Given the description of an element on the screen output the (x, y) to click on. 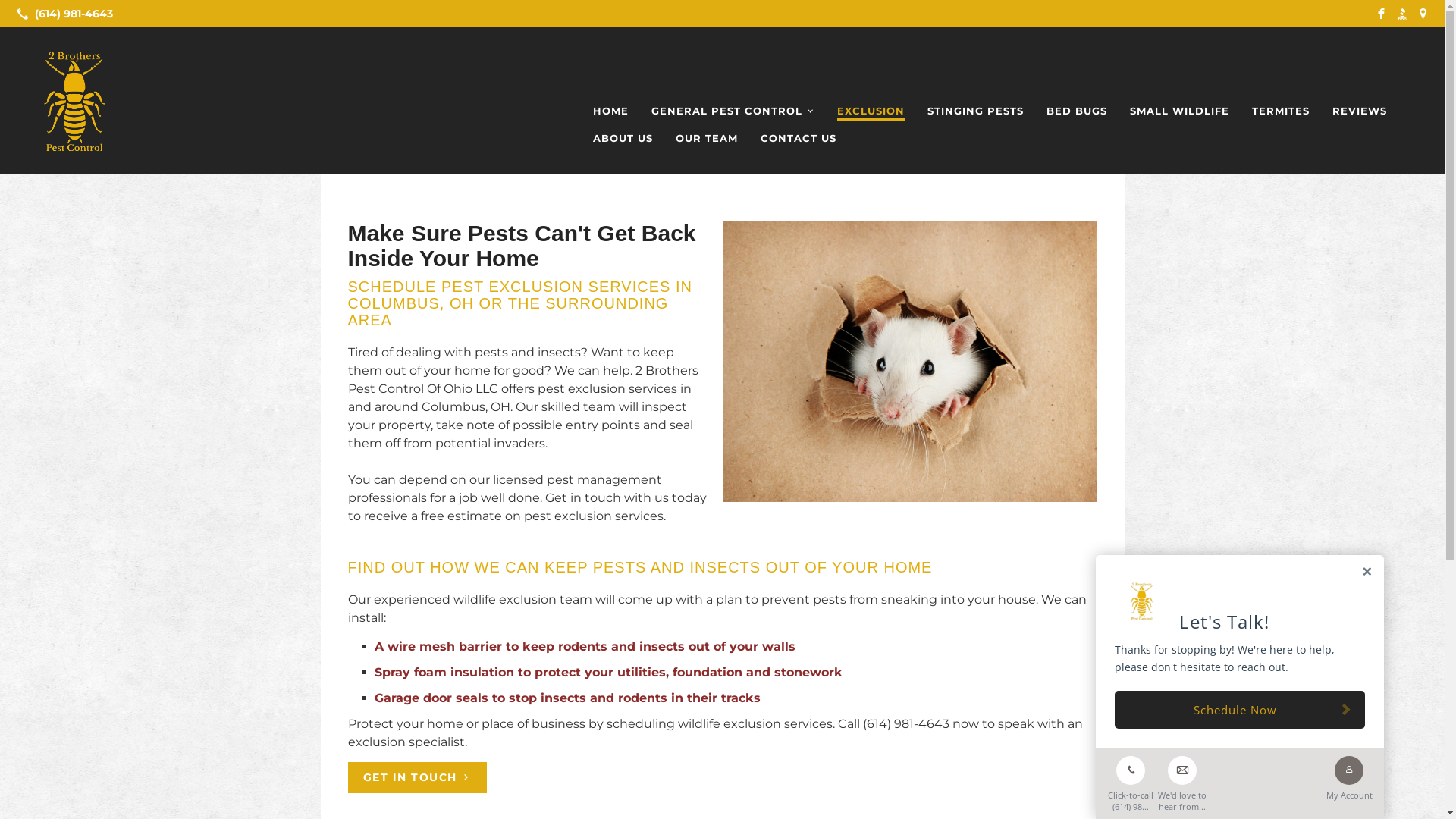
BBB Element type: hover (1401, 13)
OUR TEAM Element type: text (706, 137)
REVIEWS Element type: text (1359, 110)
EXCLUSION Element type: text (870, 110)
Click-to-call (614) 98... Element type: text (1130, 780)
Facebook Element type: hover (1380, 13)
We'd love to hear from... Element type: text (1182, 780)
CONTACT US Element type: text (798, 137)
TERMITES Element type: text (1280, 110)
Schedule Now Element type: text (1239, 709)
ABOUT US Element type: text (622, 137)
My Account Element type: text (1348, 774)
SMALL WILDLIFE Element type: text (1179, 110)
GET IN TOUCH Element type: text (416, 777)
(614) 981-4643 Element type: hover (61, 13)
HOME Element type: text (610, 110)
Google Element type: hover (1423, 13)
STINGING PESTS Element type: text (975, 110)
BED BUGS Element type: text (1076, 110)
